Given the description of an element on the screen output the (x, y) to click on. 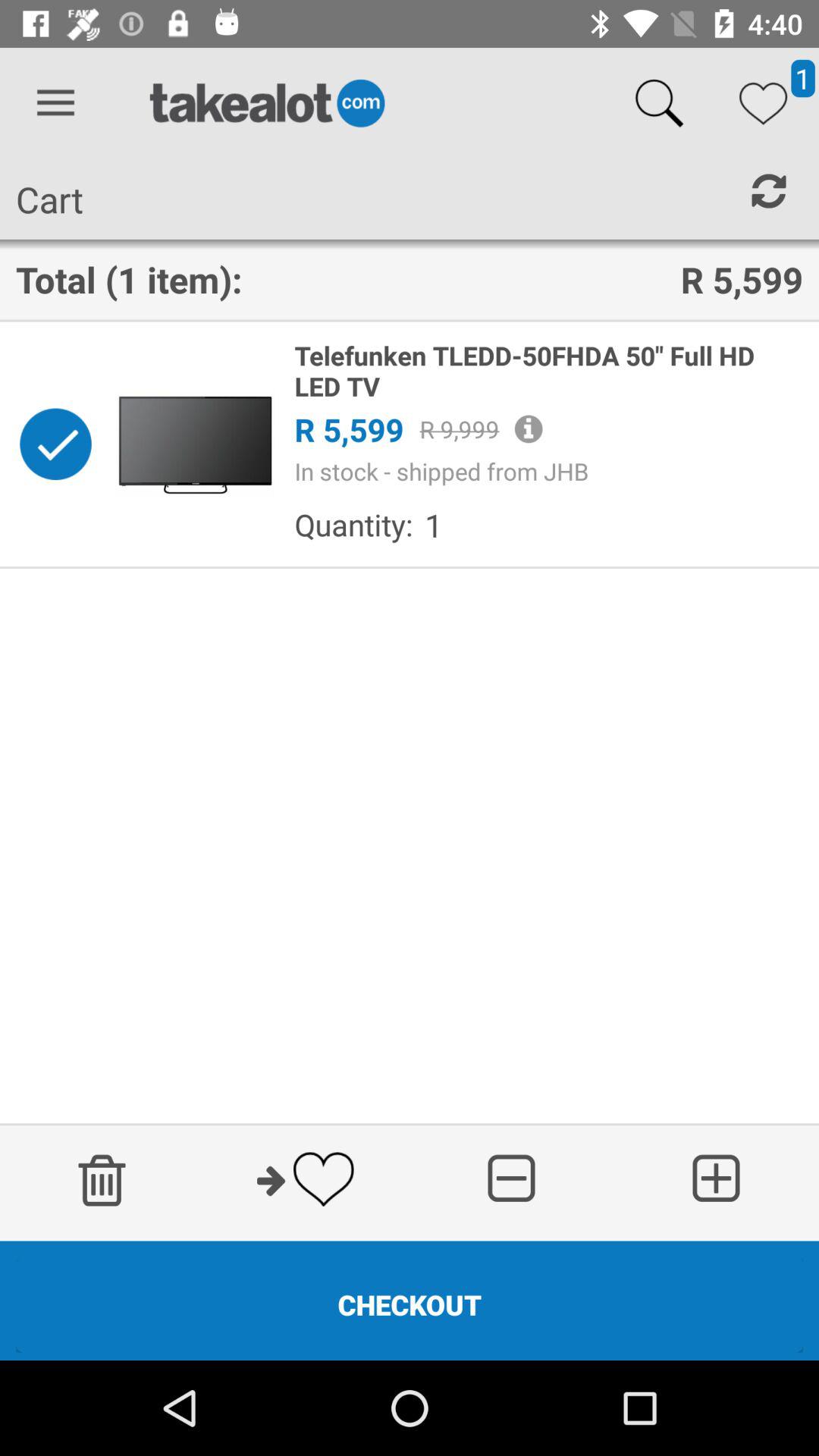
choose icon next to the 1 (353, 524)
